Given the description of an element on the screen output the (x, y) to click on. 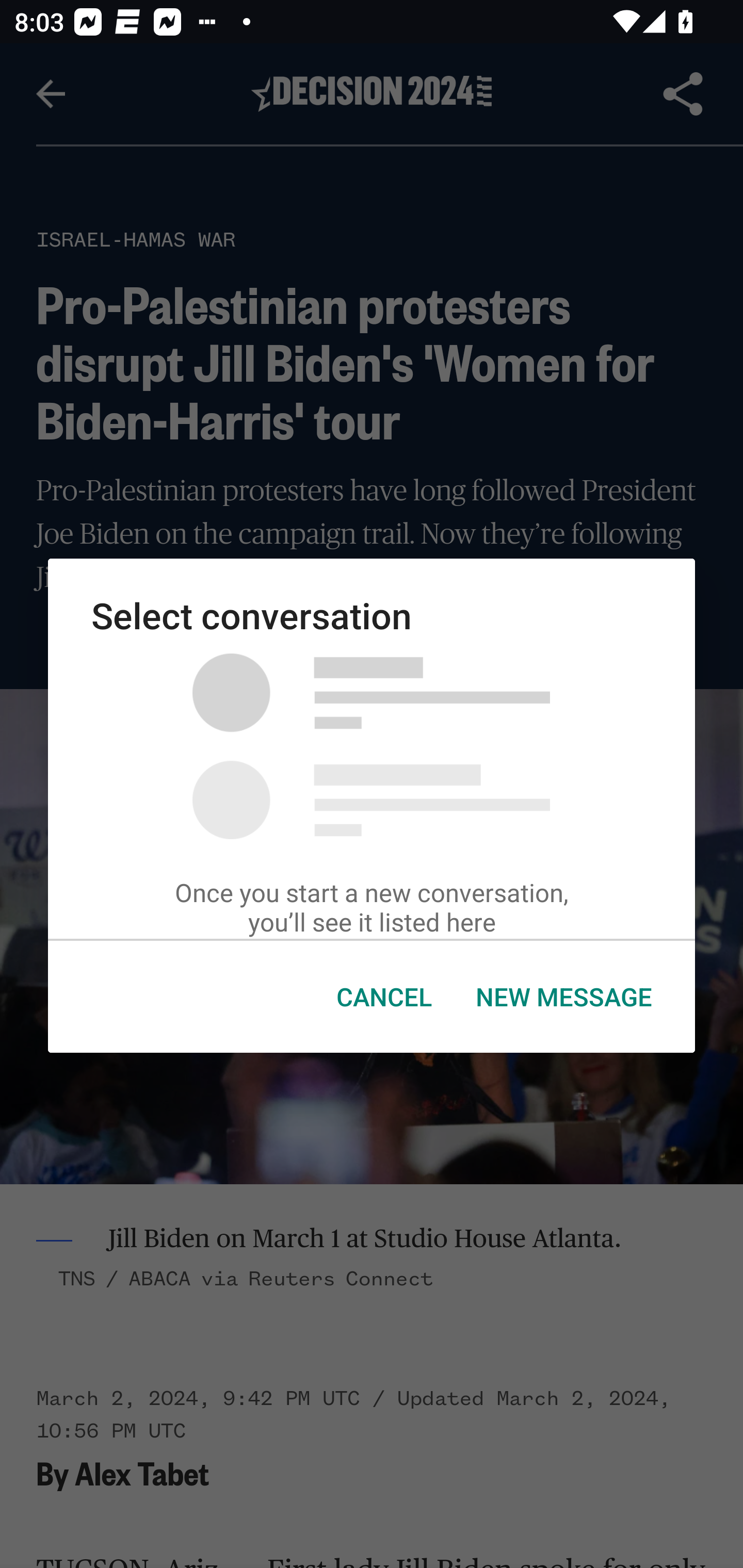
CANCEL (384, 996)
NEW MESSAGE (563, 996)
